Given the description of an element on the screen output the (x, y) to click on. 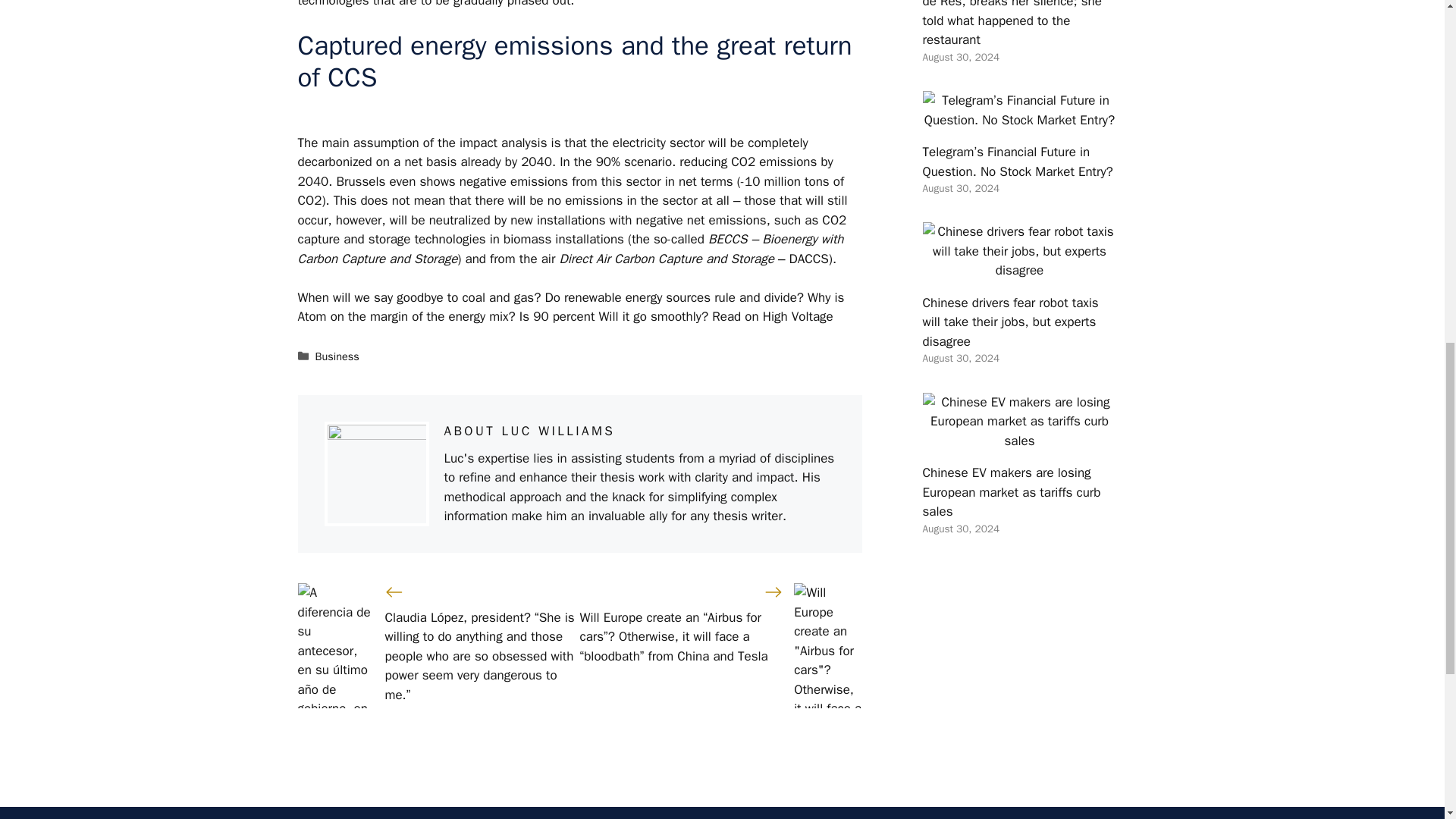
August 30, 2024 (959, 187)
5:40 am (959, 528)
Business (337, 356)
7:39 pm (959, 56)
11:39 am (959, 358)
August 30, 2024 (959, 528)
